Given the description of an element on the screen output the (x, y) to click on. 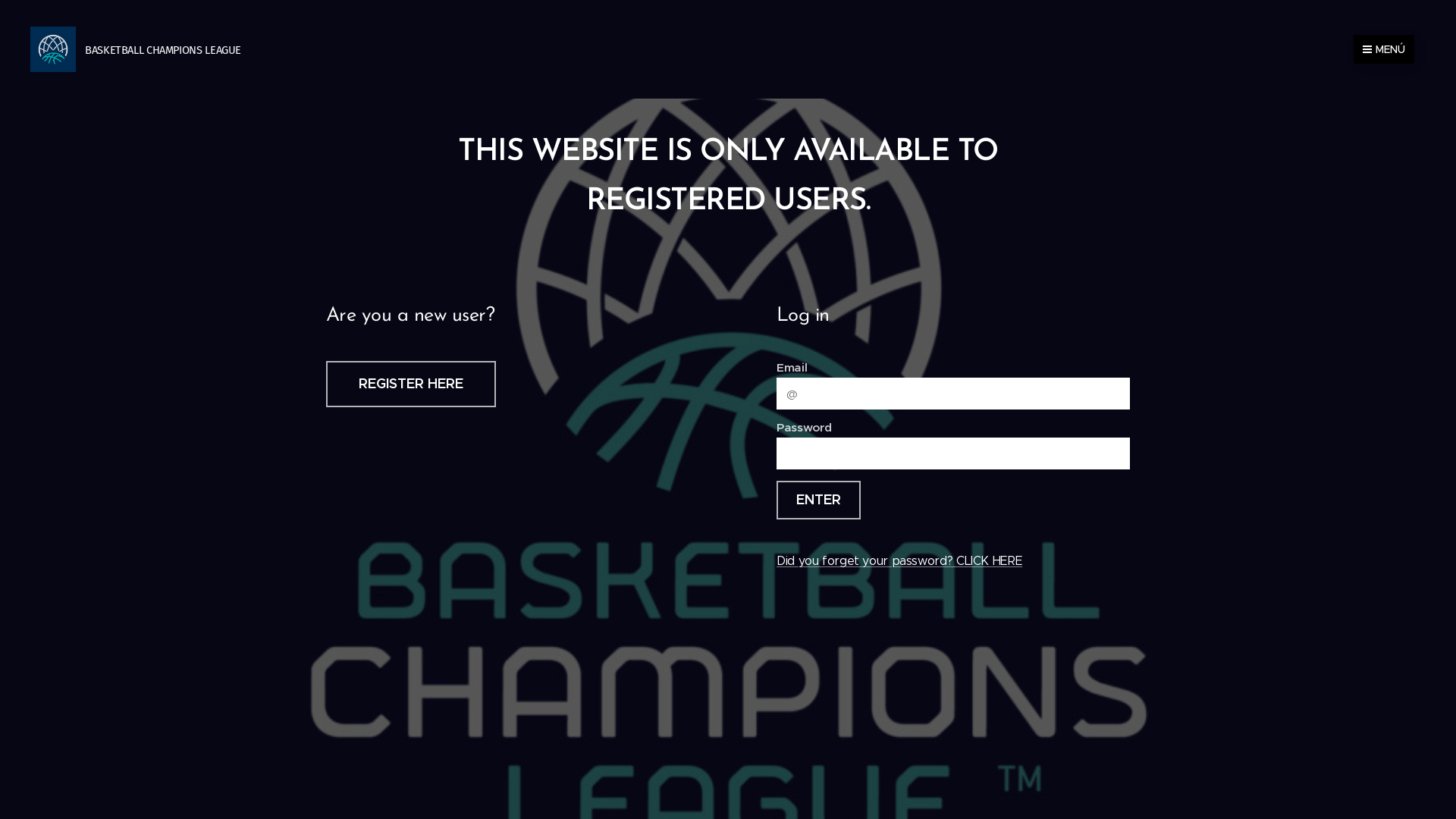
ENTER Element type: text (818, 499)
BASKETBALL CHAMPIONS  LEAGUE Element type: text (137, 49)
REGISTER HERE Element type: text (410, 383)
Did you forget your password? CLICK HERE Element type: text (899, 560)
